Given the description of an element on the screen output the (x, y) to click on. 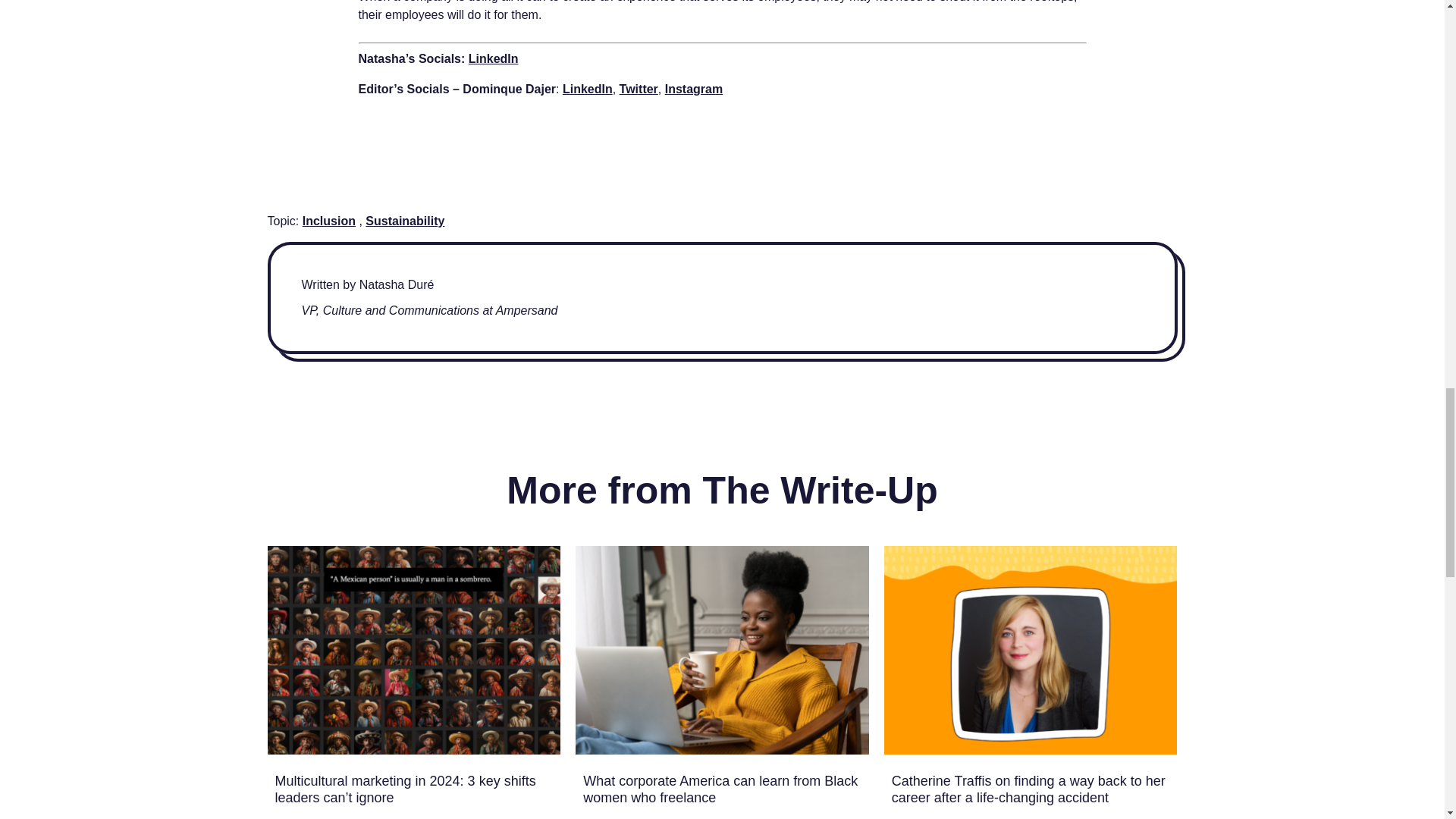
Inclusion (328, 220)
LinkedIn (587, 88)
LinkedIn (493, 58)
Sustainability (404, 220)
Instagram (693, 88)
Twitter (639, 88)
